Given the description of an element on the screen output the (x, y) to click on. 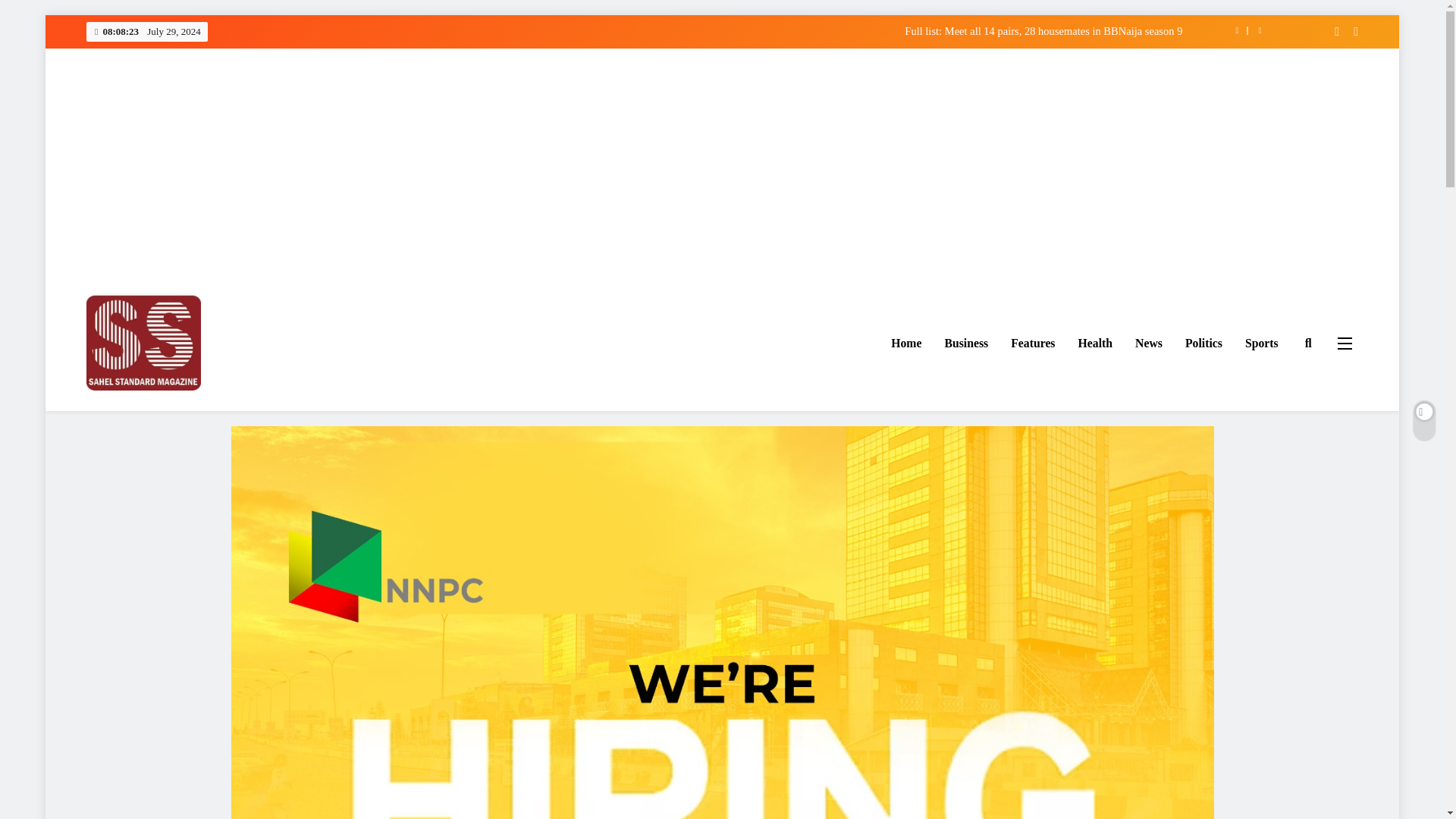
Random News (1350, 31)
Sahel Standard (162, 412)
Features (1031, 342)
Newsletter (1331, 31)
Health (1095, 342)
Politics (1203, 342)
Home (906, 342)
Sports (1261, 342)
Business (965, 342)
News (1148, 342)
